Given the description of an element on the screen output the (x, y) to click on. 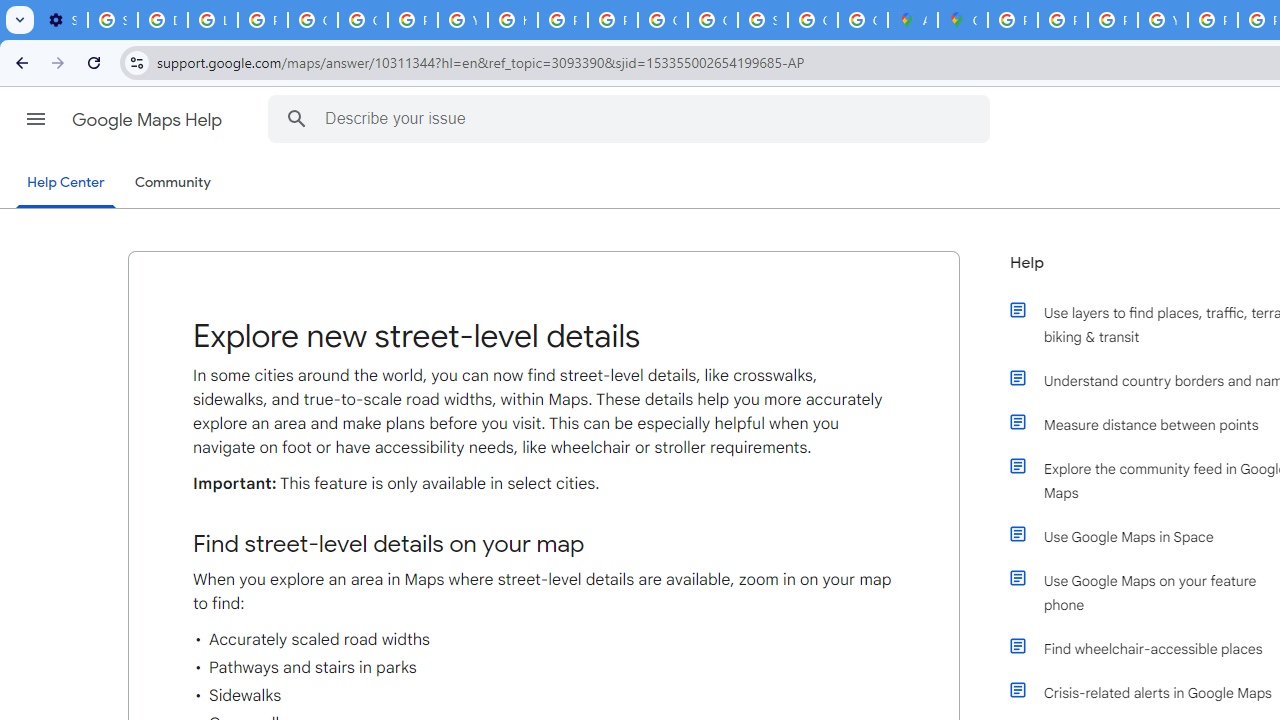
YouTube (1162, 20)
Privacy Help Center - Policies Help (1112, 20)
Help Center (65, 183)
Policy Accountability and Transparency - Transparency Center (1013, 20)
